Given the description of an element on the screen output the (x, y) to click on. 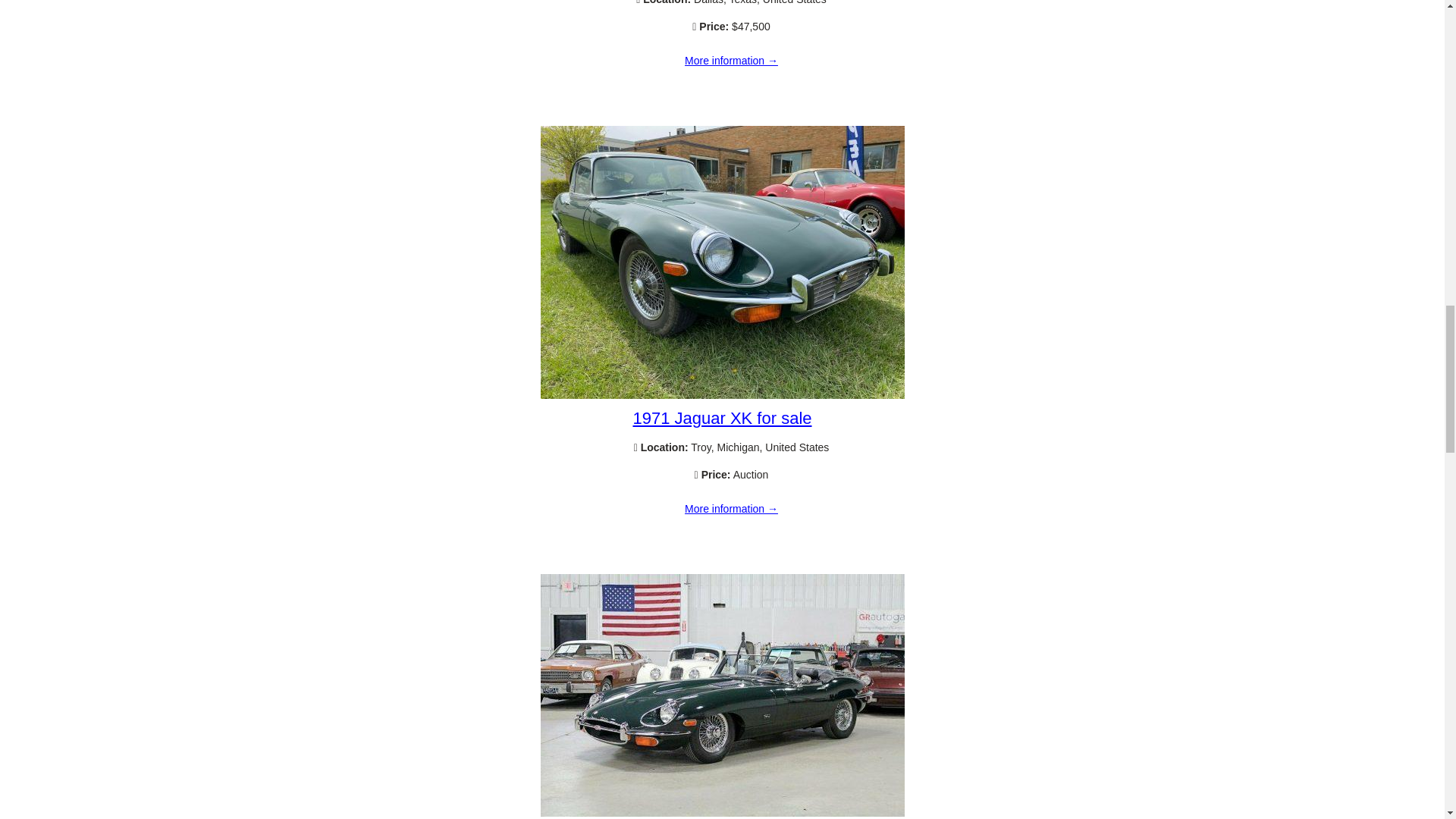
1971 Jaguar XK for sale (720, 417)
1971 Jaguar XK for sale (731, 509)
1971 Jaguar XK for sale (722, 395)
1971 Jaguar XKE 94399 Miles Manual for sale (731, 61)
1971 Jaguar XKE Series II Convertible for sale (722, 812)
